Given the description of an element on the screen output the (x, y) to click on. 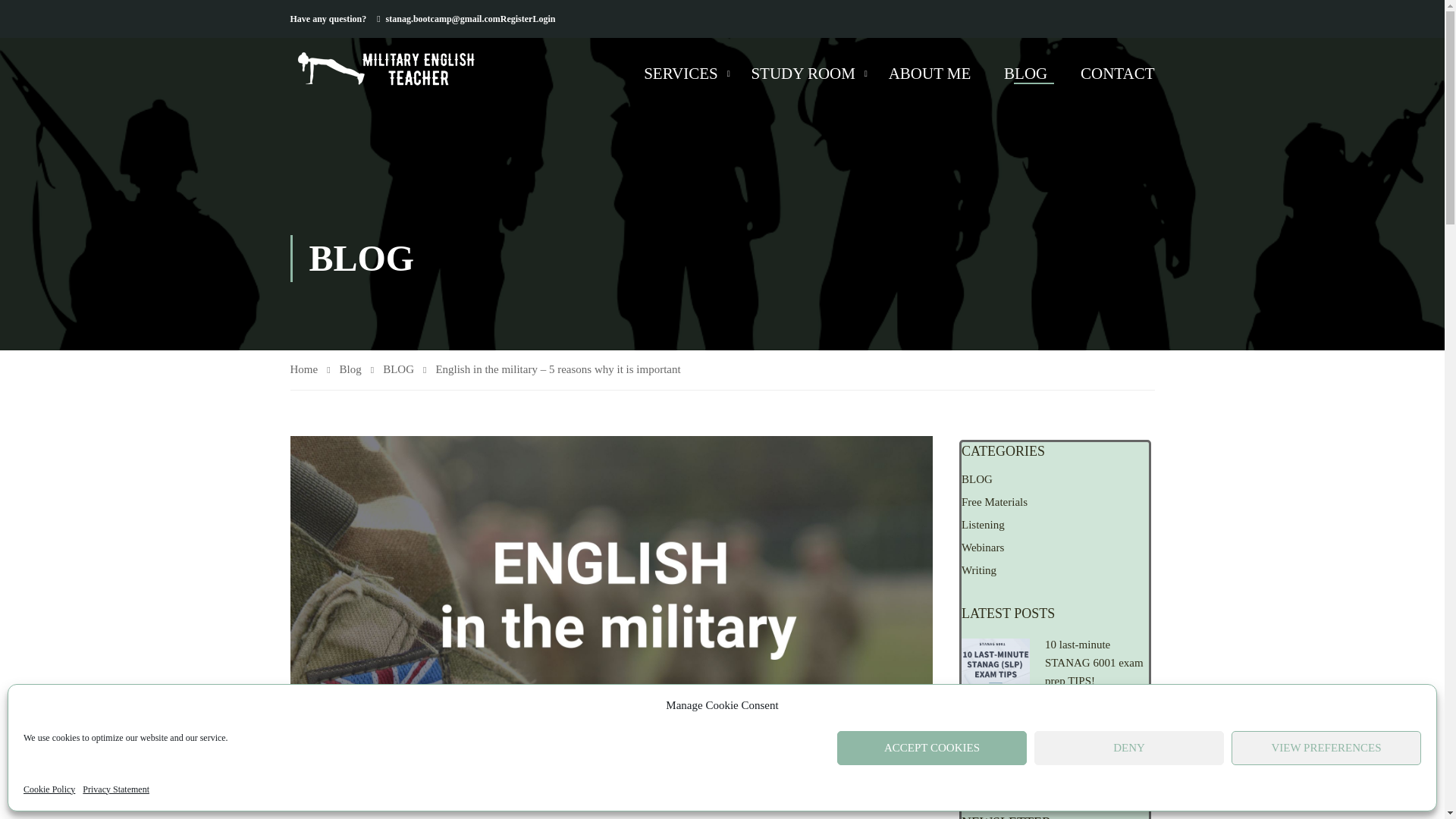
VIEW PREFERENCES (1326, 747)
ACCEPT COOKIES (931, 747)
STUDY ROOM (802, 72)
Cookie Policy (49, 789)
Login (543, 18)
DENY (1128, 747)
SERVICES (680, 72)
Register (516, 18)
Privacy Statement (115, 789)
